Given the description of an element on the screen output the (x, y) to click on. 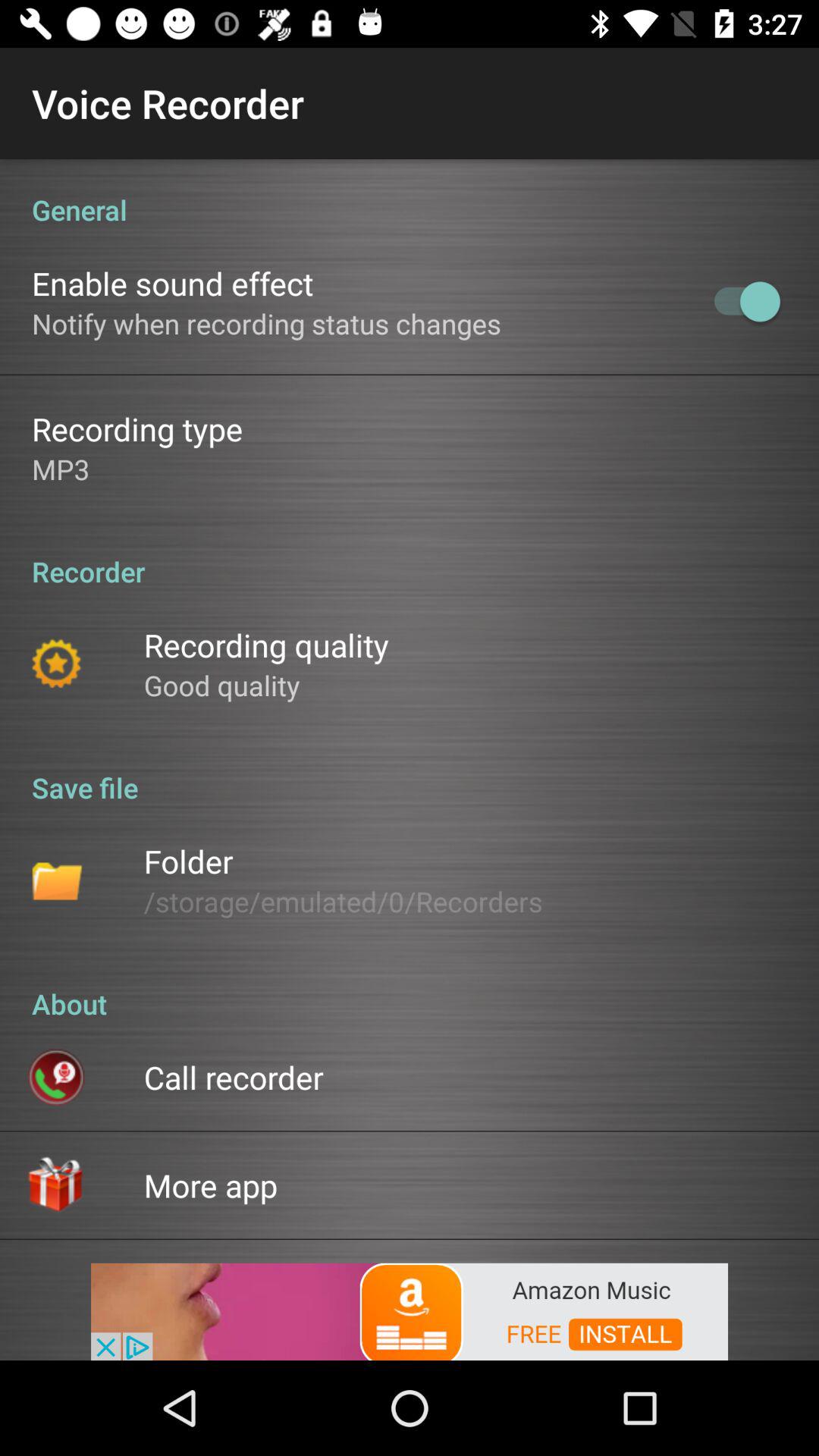
go to advertisement option (409, 1310)
